Given the description of an element on the screen output the (x, y) to click on. 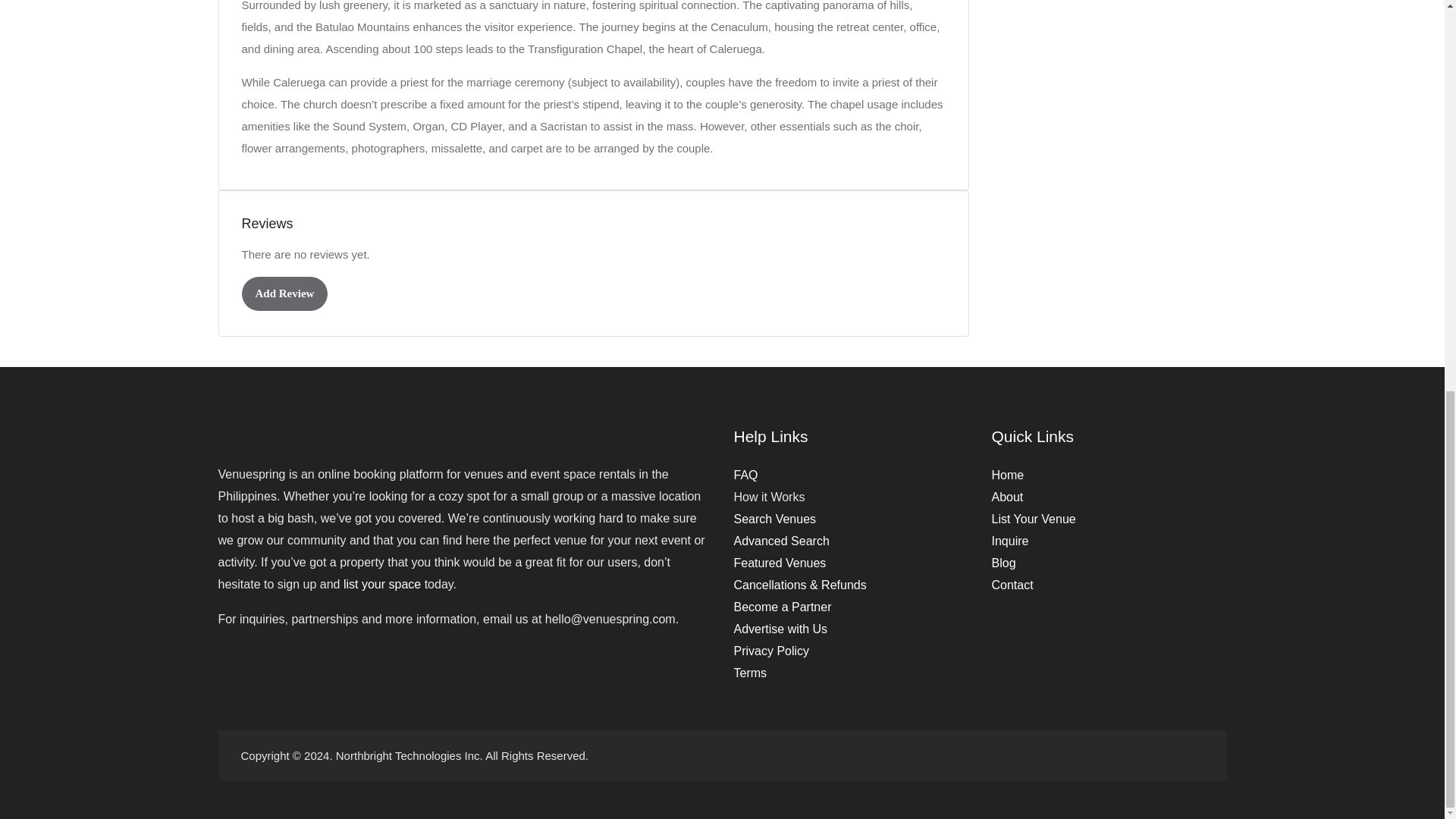
Add Review (284, 293)
Featured Venues (780, 562)
list your space (381, 584)
facebook (1143, 755)
Advanced Search (781, 540)
instagram (1169, 755)
FAQ (745, 474)
Search Venues (774, 518)
Become a Partner (782, 606)
linkedin (1194, 755)
